Given the description of an element on the screen output the (x, y) to click on. 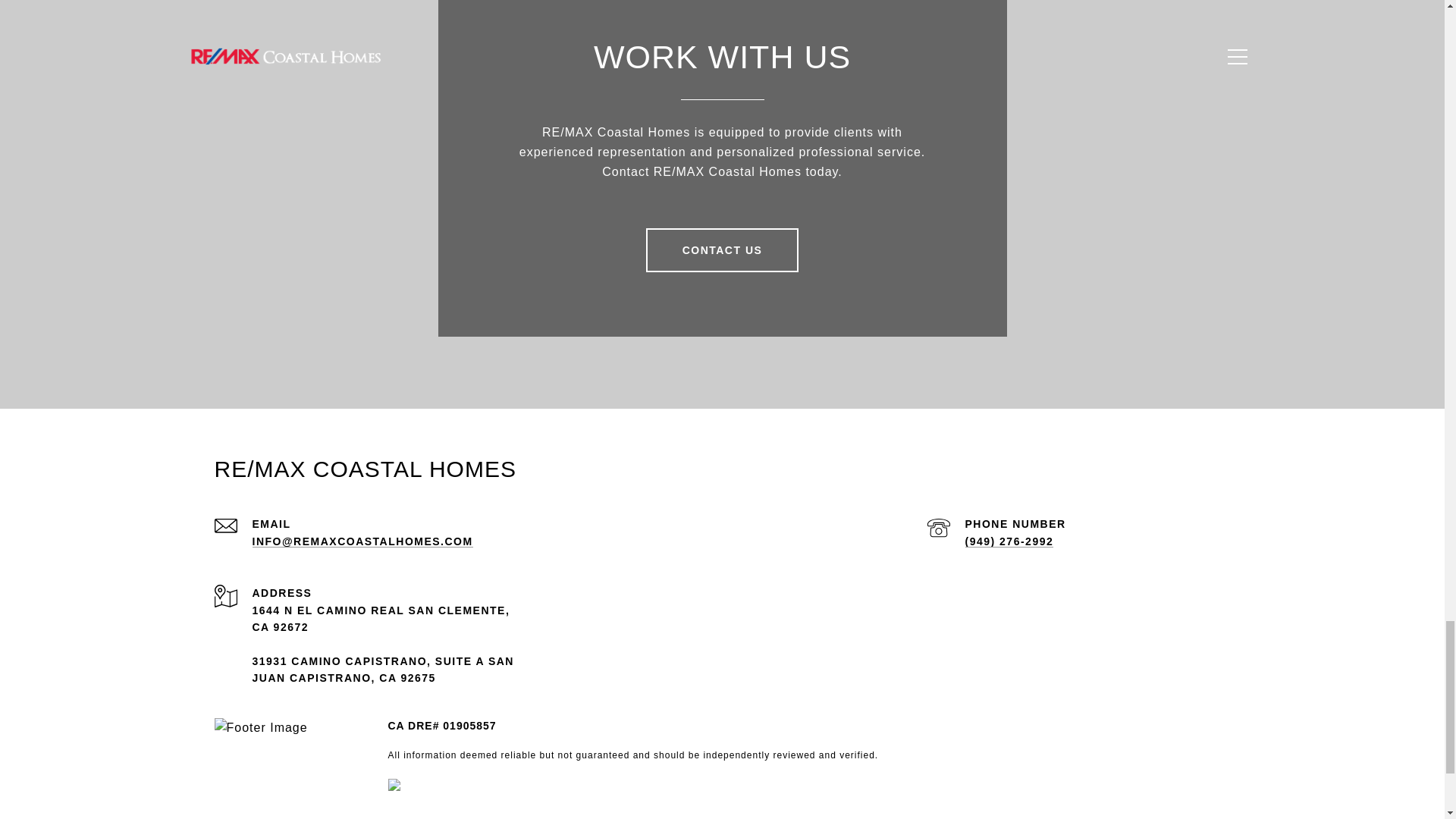
CONTACT US (722, 249)
